Given the description of an element on the screen output the (x, y) to click on. 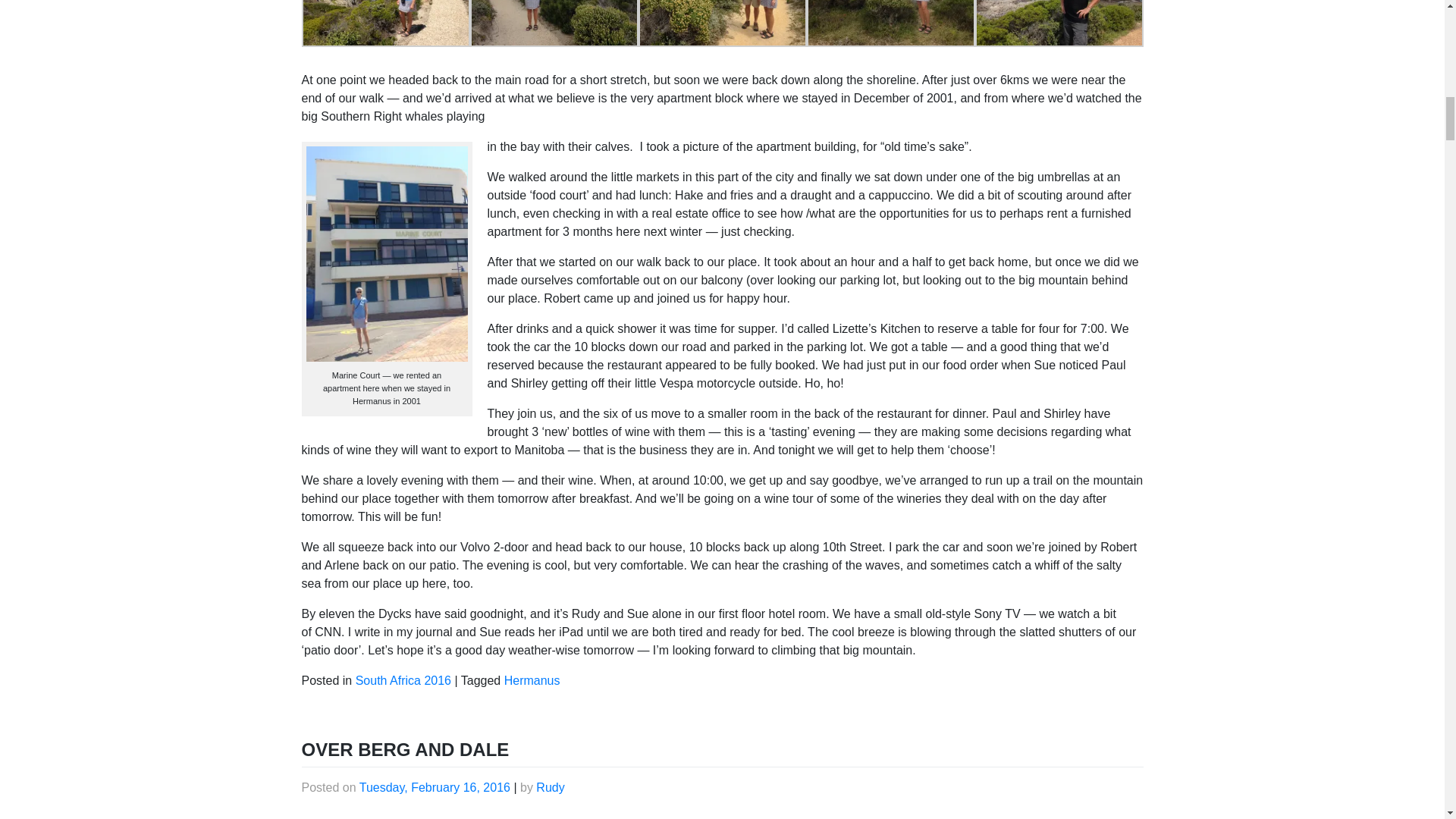
Hermanus (531, 680)
South Africa 2016 (403, 680)
